Given the description of an element on the screen output the (x, y) to click on. 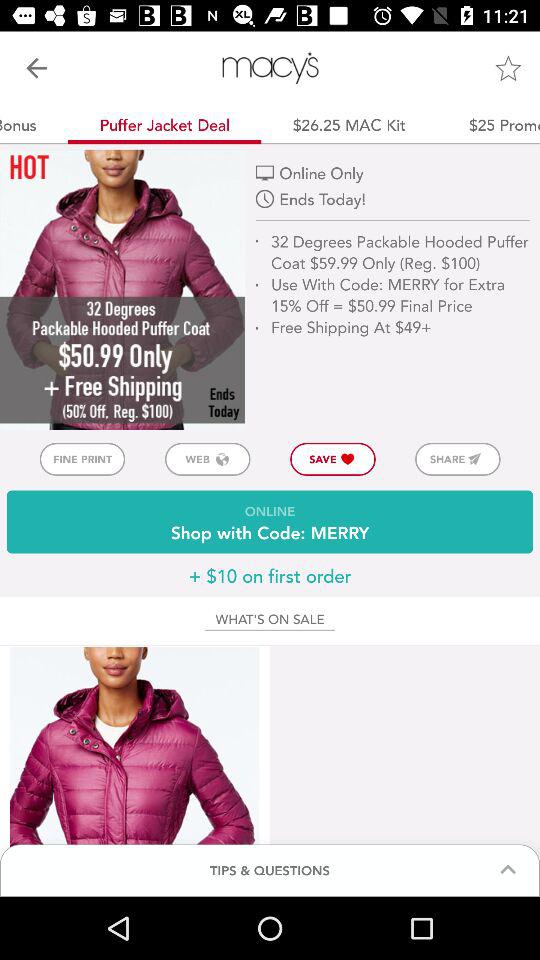
choose the share on the right (457, 458)
